Given the description of an element on the screen output the (x, y) to click on. 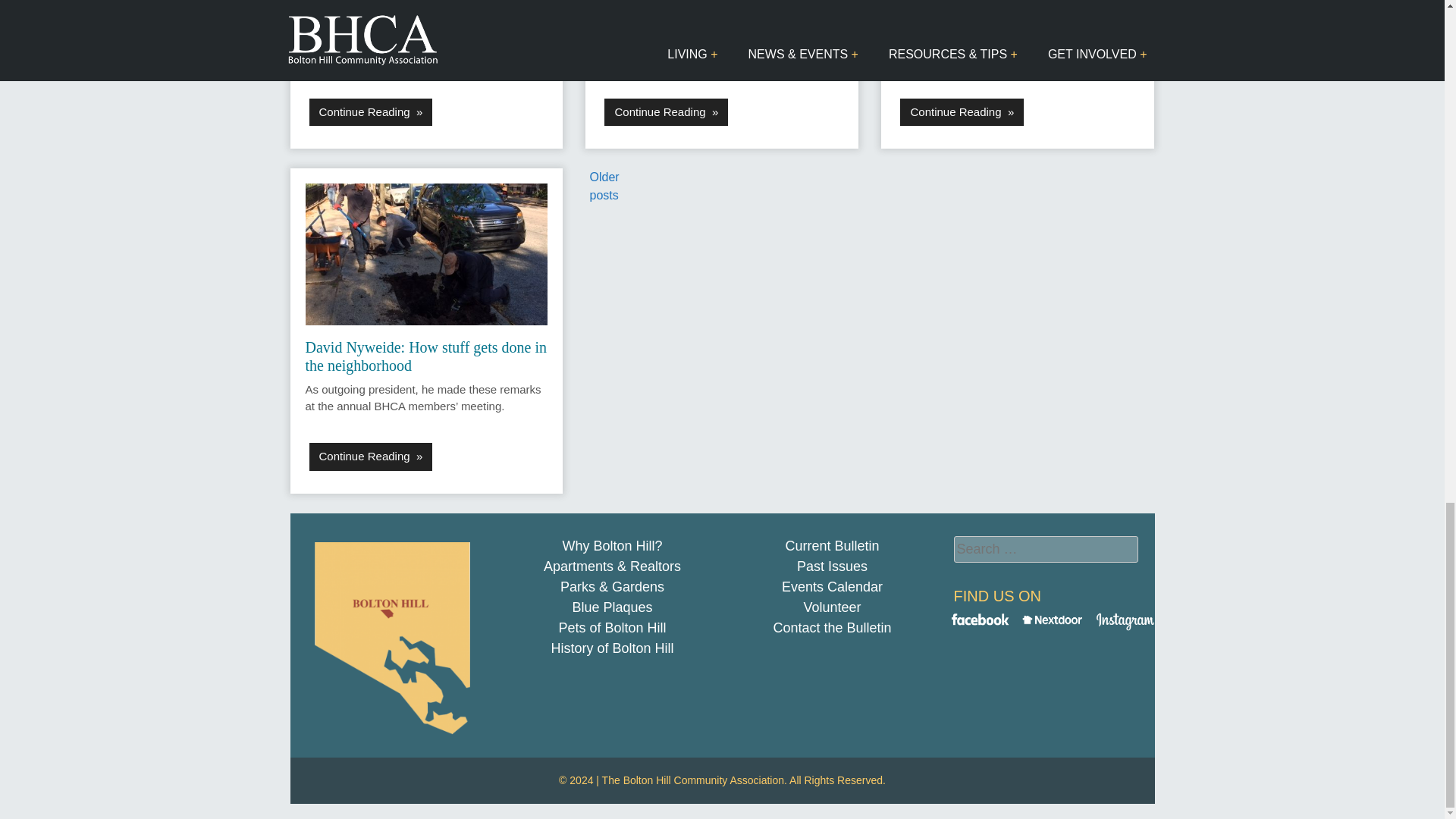
bolton-map-silo (393, 638)
Start a Project (832, 627)
